Given the description of an element on the screen output the (x, y) to click on. 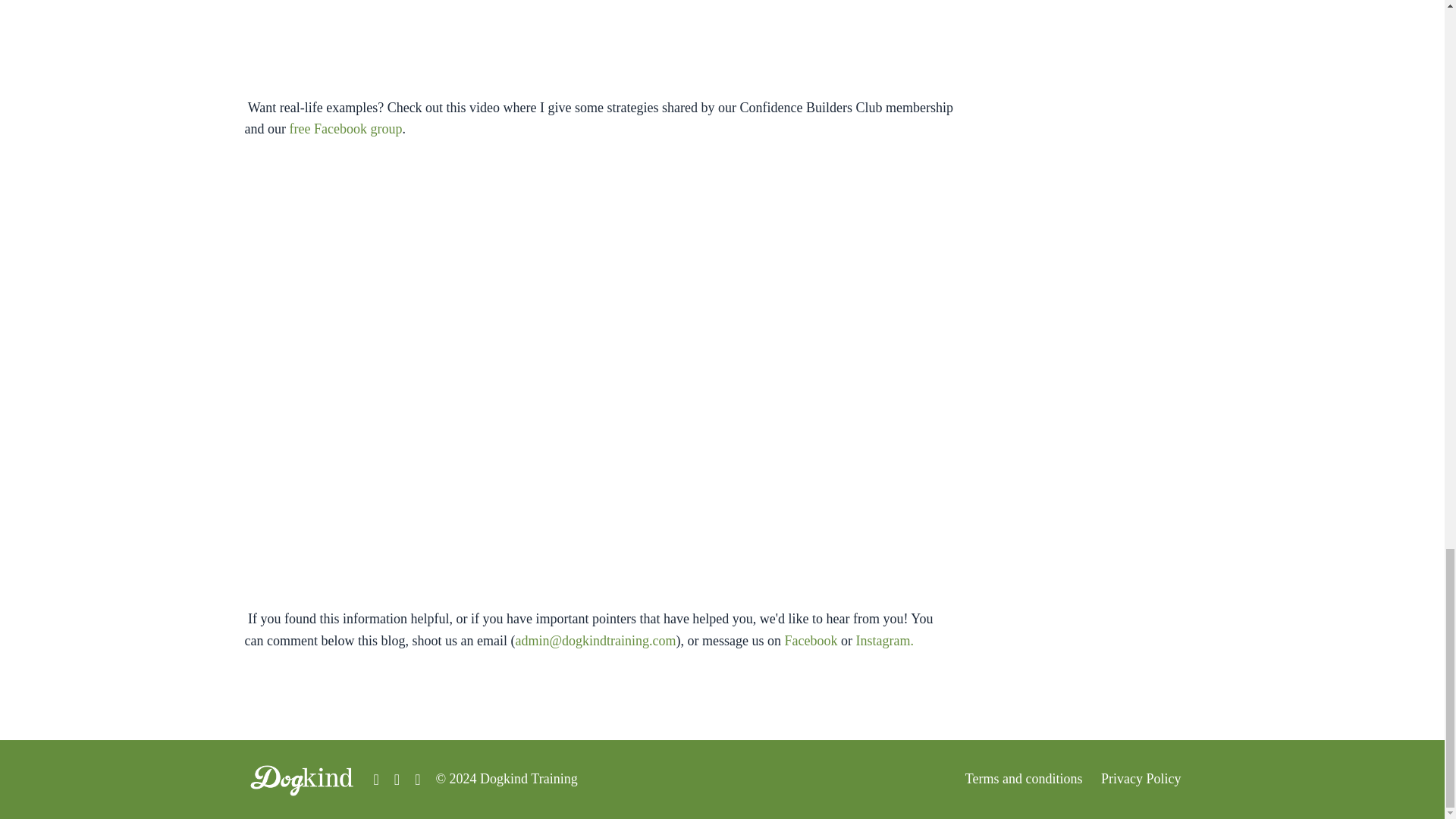
Facebook (810, 640)
free Facebook group (344, 128)
Privacy Policy (1140, 778)
Terms and conditions (1024, 778)
YouTube video player (599, 42)
Instagram. (884, 640)
